Given the description of an element on the screen output the (x, y) to click on. 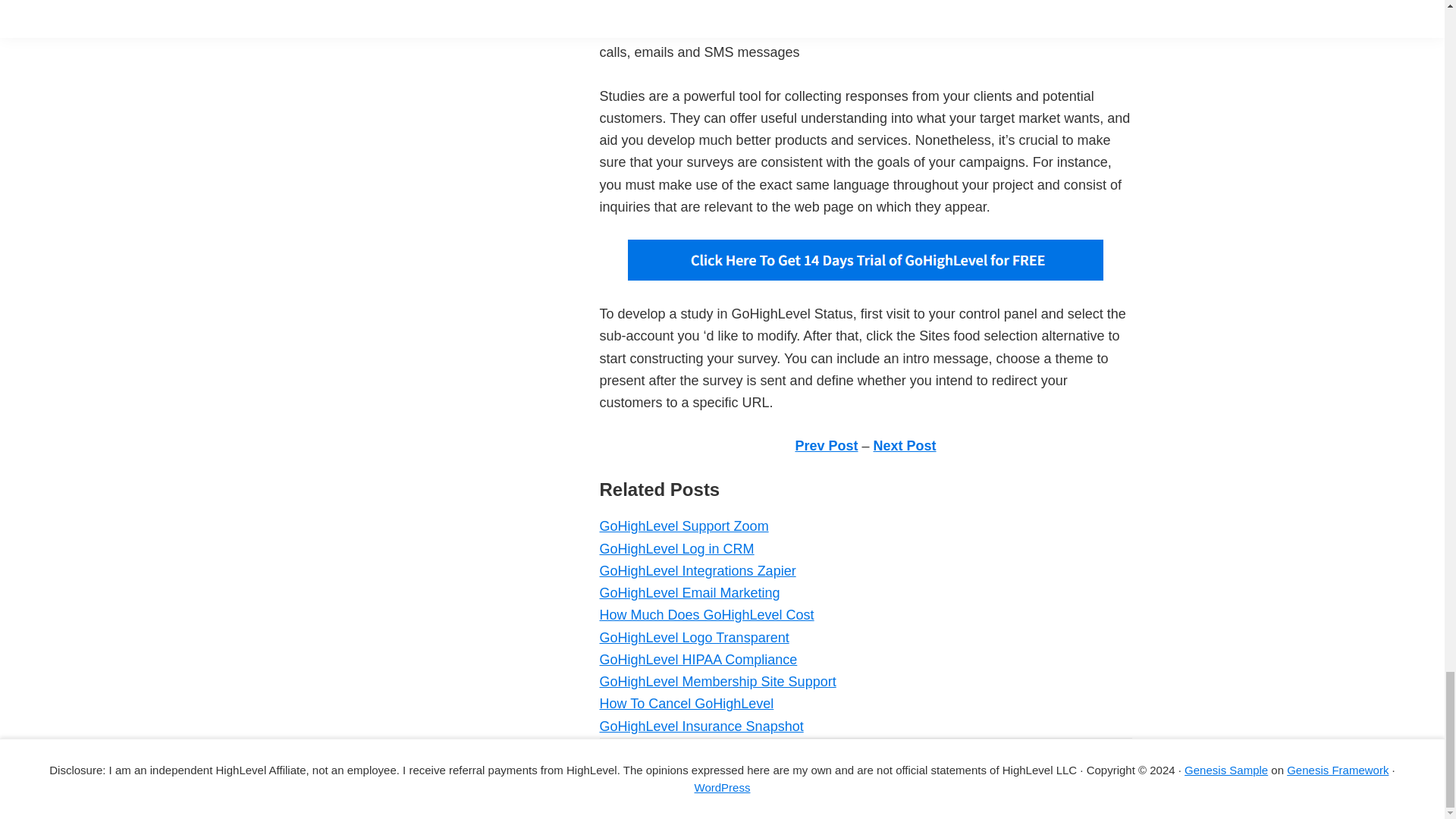
How To Cancel GoHighLevel (685, 703)
GoHighLevel Log in CRM (676, 548)
GoHighLevel HIPAA Compliance (697, 659)
GoHighLevel Integrations Zapier (696, 570)
GoHighLevel Integrations Zapier (696, 570)
How To Cancel GoHighLevel (685, 703)
How Much Does GoHighLevel Cost (705, 614)
GoHighLevel Email Marketing (688, 592)
GoHighLevel Support Zoom (683, 525)
How Much Does GoHighLevel Cost (705, 614)
